Given the description of an element on the screen output the (x, y) to click on. 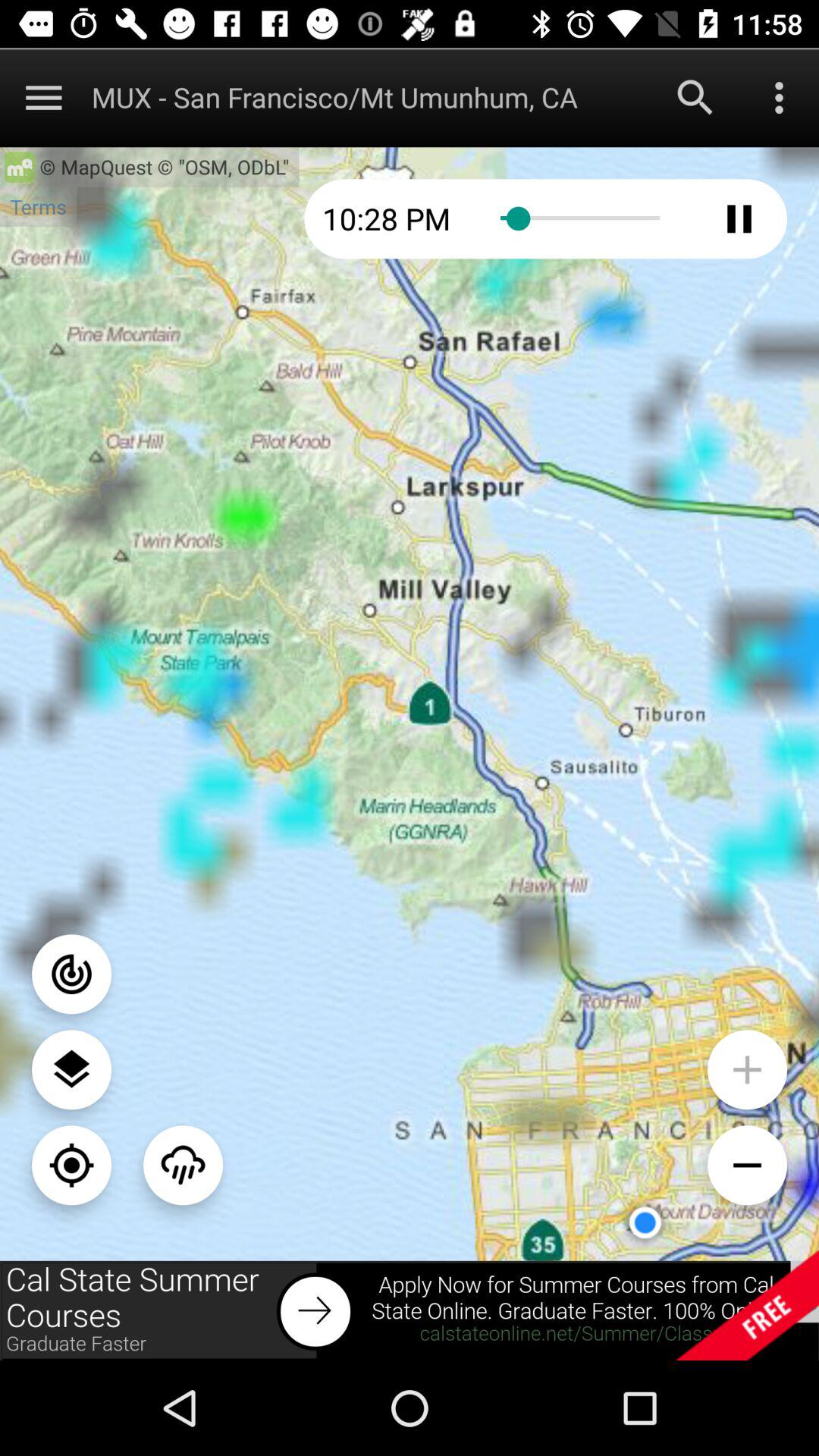
go to main manu (43, 97)
